Given the description of an element on the screen output the (x, y) to click on. 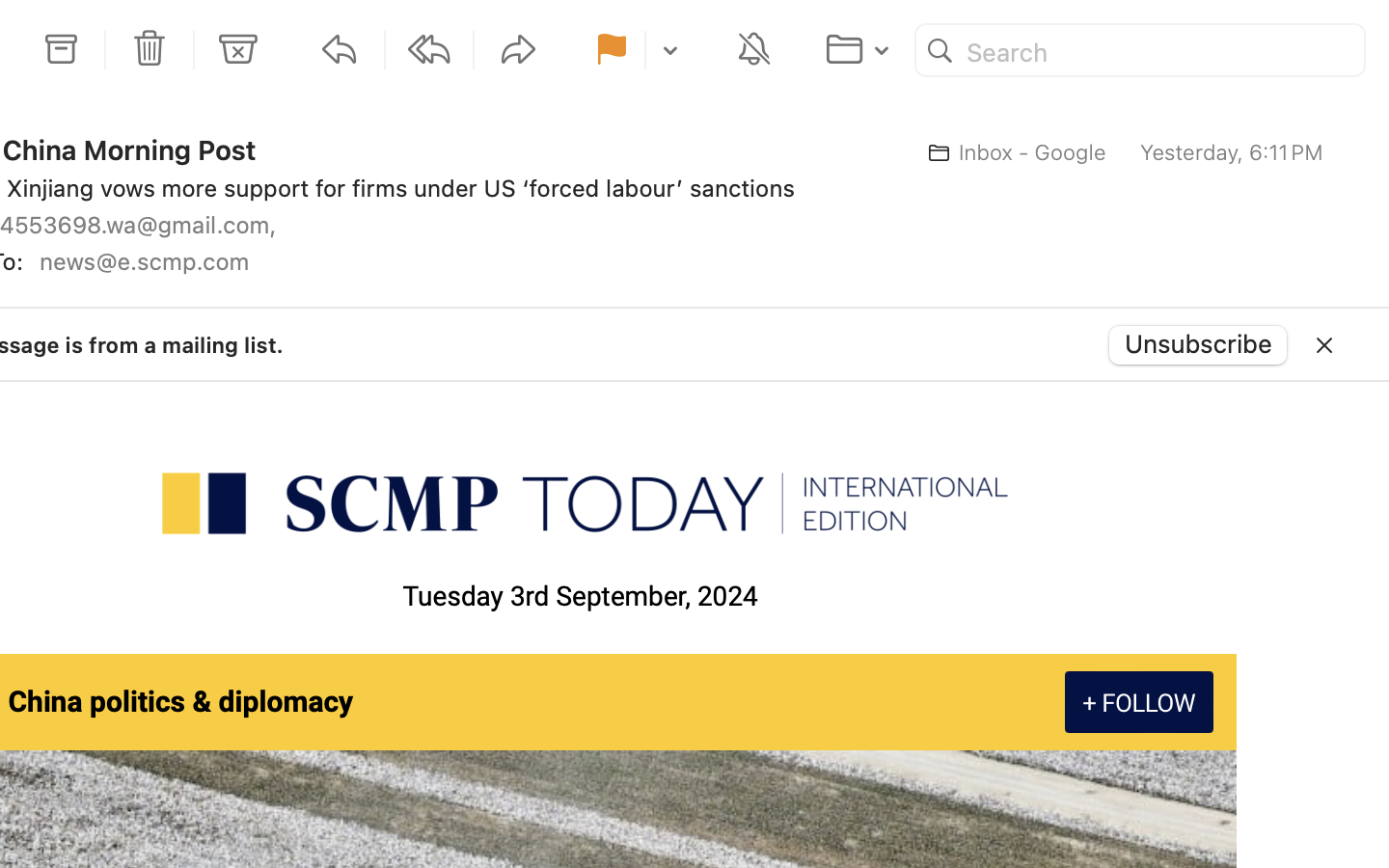
￼Inbox - Google Element type: AXStaticText (1010, 151)
0.0 Element type: AXValueIndicator (1377, 312)
Tuesday 3rd September, 2024 Element type: AXStaticText (580, 596)
China politics & diplomacy Element type: AXStaticText (180, 702)
news@e.scmp.com Element type: AXStaticText (150, 261)
